Given the description of an element on the screen output the (x, y) to click on. 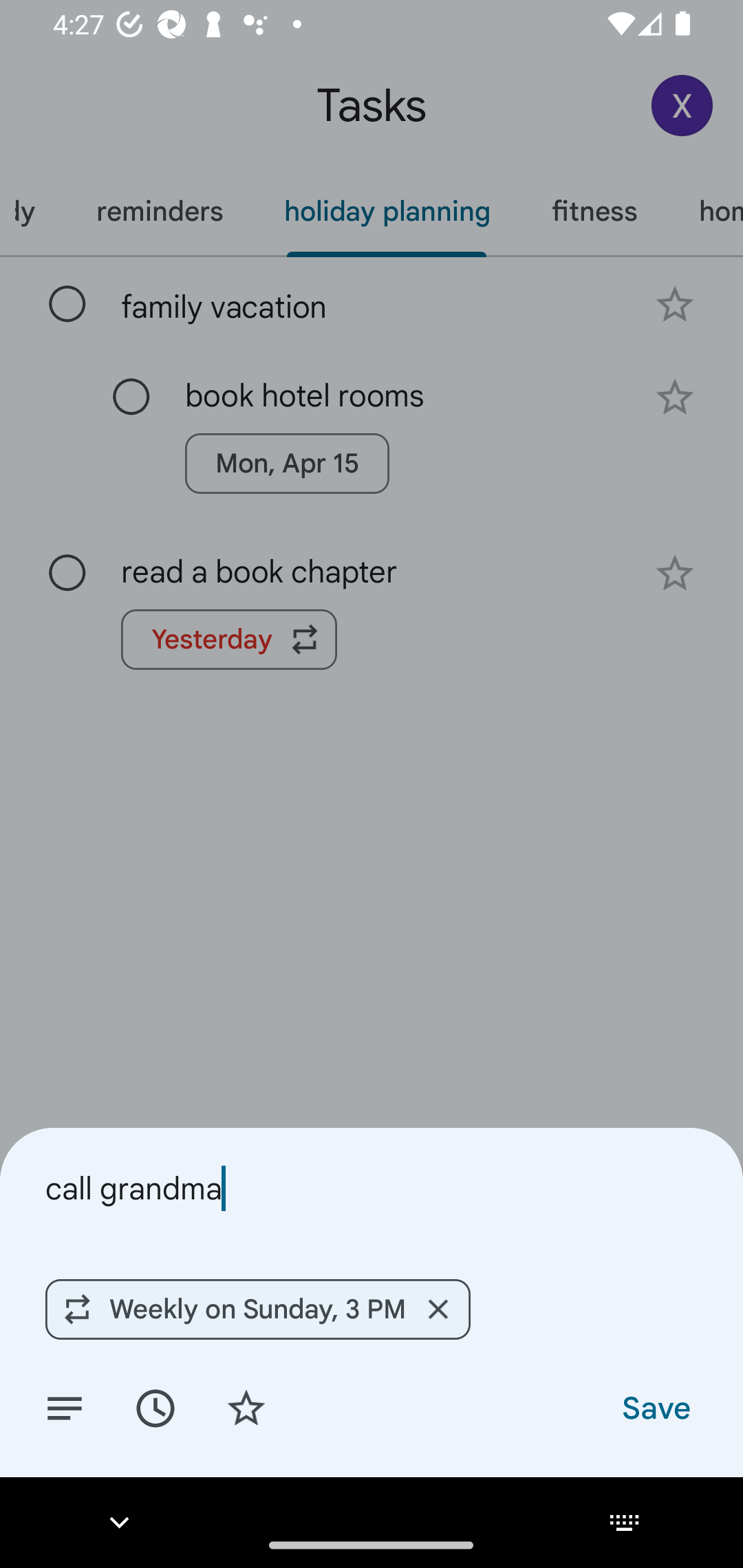
call grandma (371, 1188)
Save (655, 1407)
Add details (64, 1407)
Set date/time (154, 1407)
Add star (245, 1407)
